Given the description of an element on the screen output the (x, y) to click on. 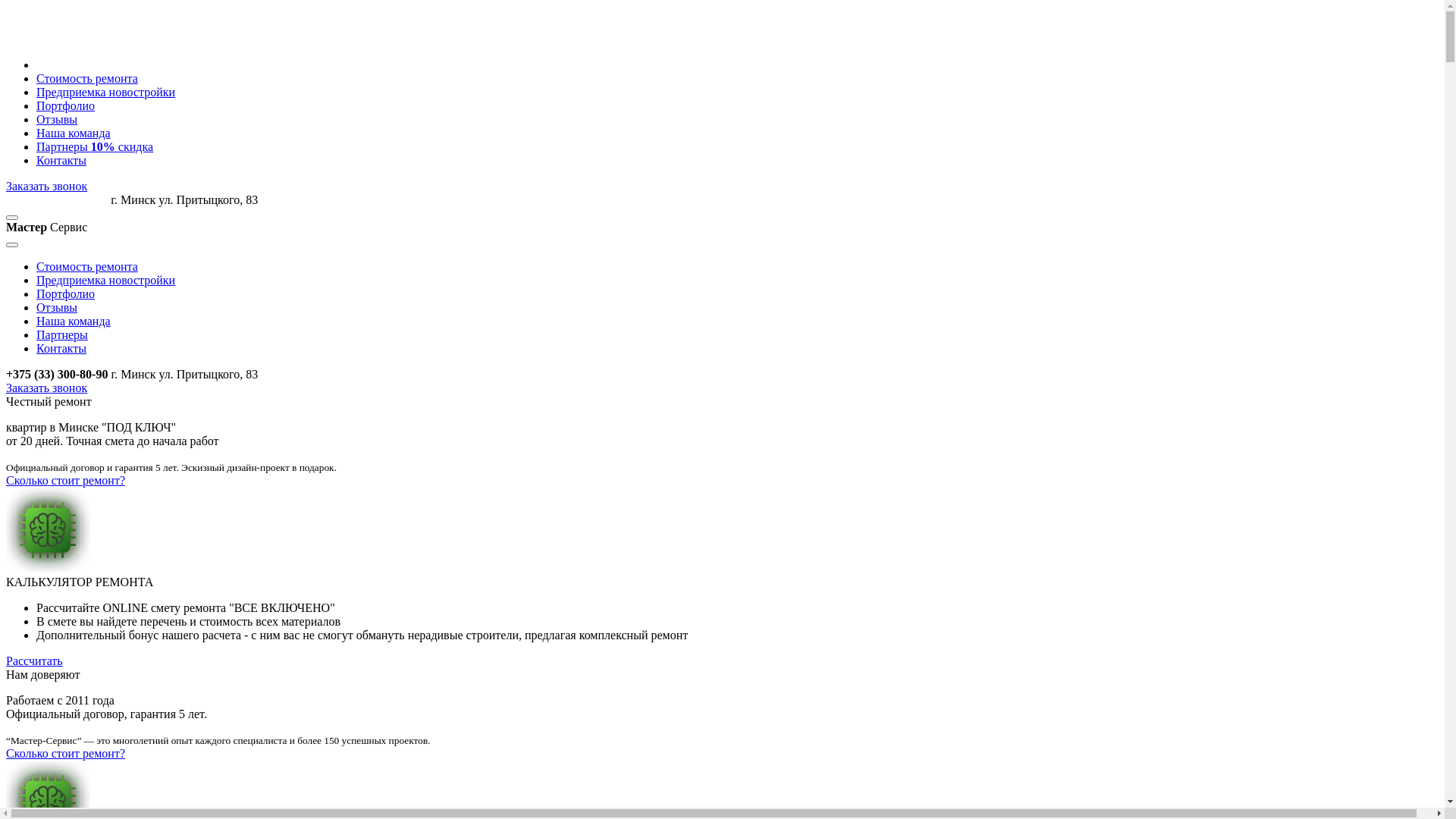
+375 (33) 300-80-90 Element type: text (56, 199)
